Given the description of an element on the screen output the (x, y) to click on. 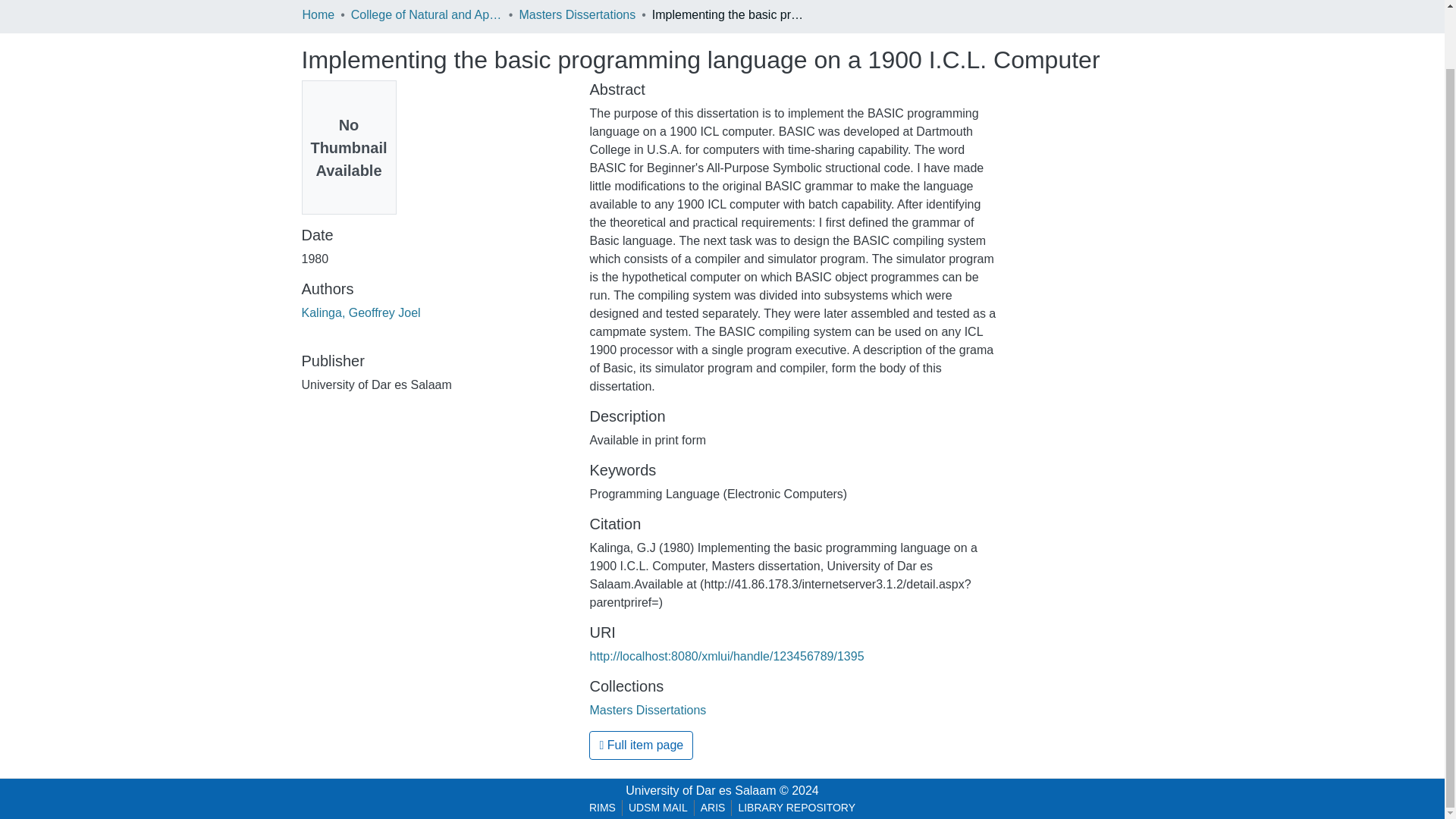
Home (317, 14)
College of Natural and Applied Sciences (426, 14)
ARIS (713, 807)
UDSM MAIL (658, 807)
RIMS (602, 807)
Masters Dissertations (647, 709)
LIBRARY REPOSITORY (796, 807)
Kalinga, Geoffrey Joel (360, 312)
Masters Dissertations (576, 14)
Full item page (641, 745)
